Given the description of an element on the screen output the (x, y) to click on. 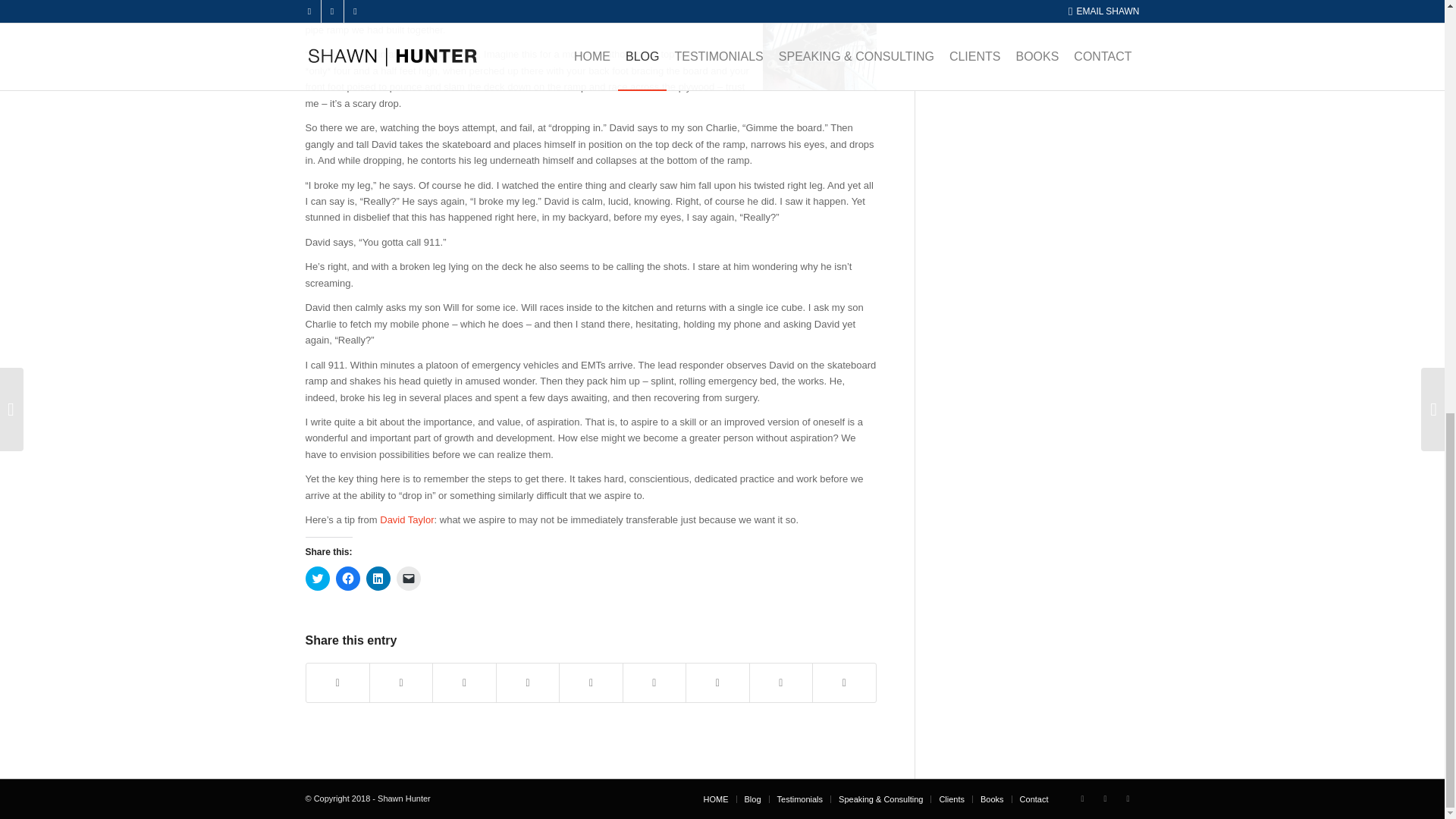
David Taylor (406, 519)
Click to share on Twitter (316, 578)
Click to share on Facebook (346, 578)
Click to share on LinkedIn (377, 578)
Click to email a link to a friend (408, 578)
